Given the description of an element on the screen output the (x, y) to click on. 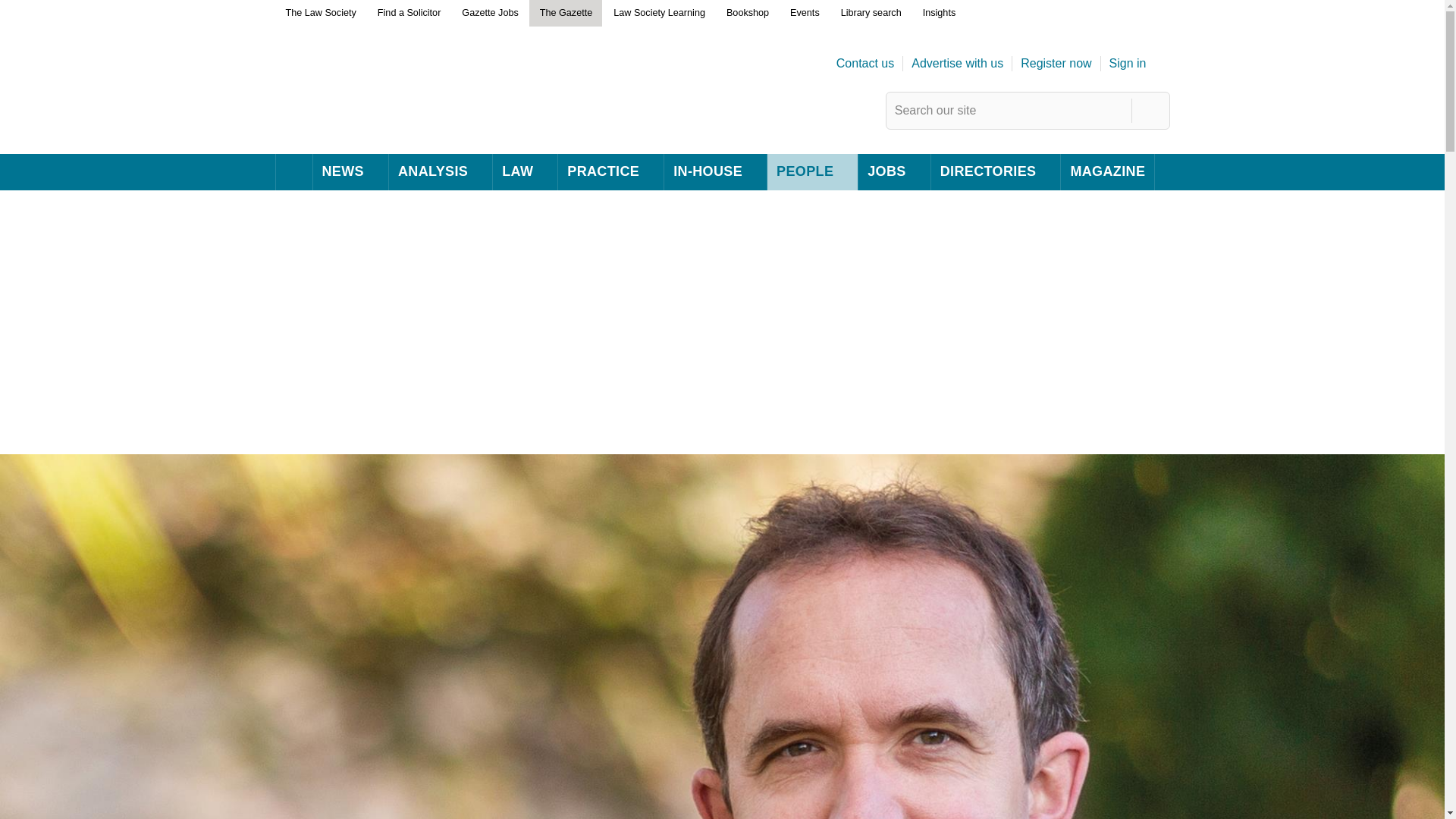
Law Society Learning (658, 13)
Find a Solicitor (408, 13)
Gazette Jobs (489, 13)
Advertise with us (957, 63)
Events (803, 13)
Law Society Learning (658, 13)
LSG logo (380, 119)
The Law Society (320, 13)
The Law Society (320, 13)
The Gazette (565, 13)
